Given the description of an element on the screen output the (x, y) to click on. 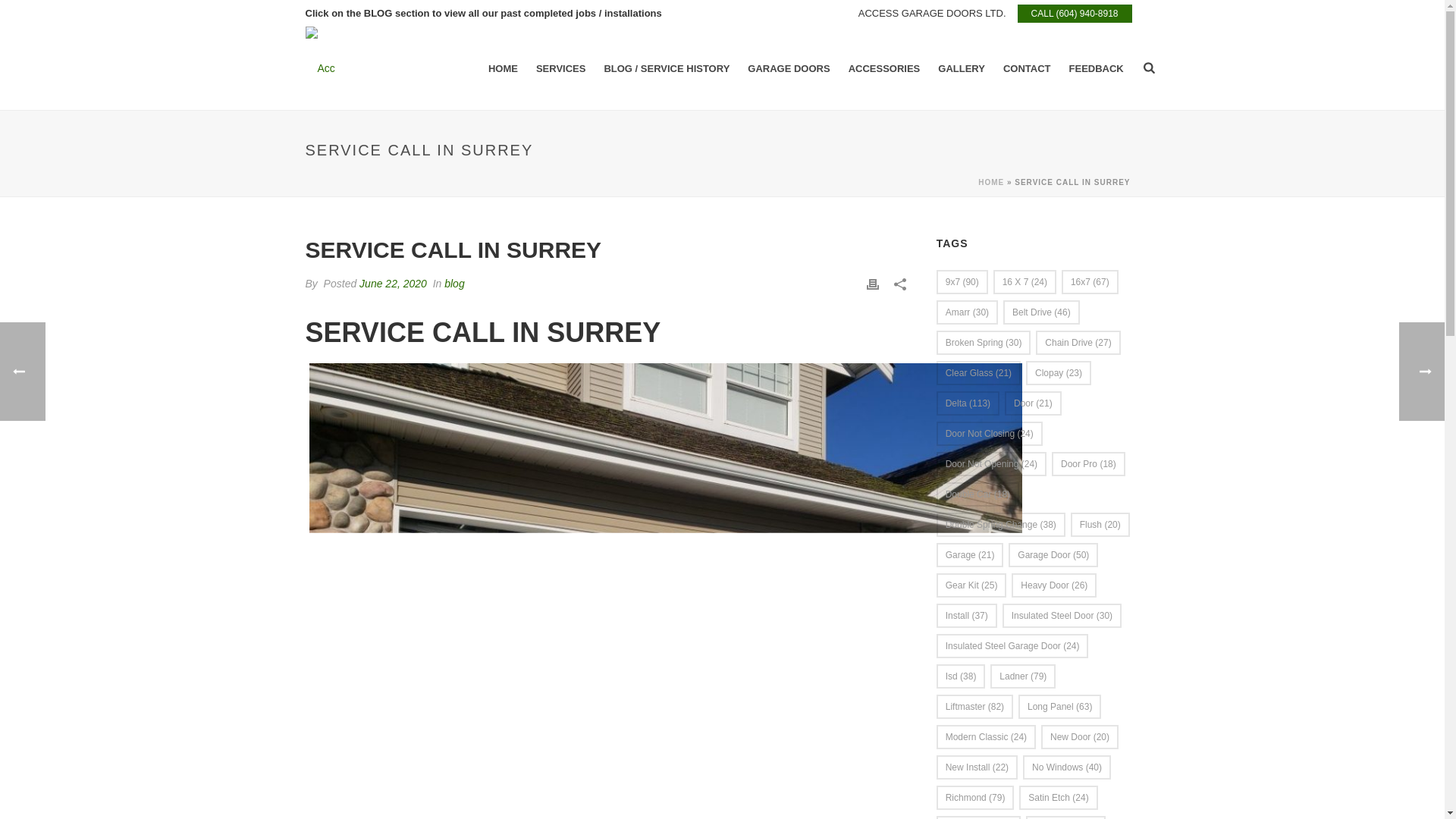
CONTACT (1026, 68)
GARAGE DOORS (788, 68)
GALLERY (961, 68)
ACCESSORIES (885, 68)
June 22, 2020 (392, 283)
SERVICES (561, 68)
GALLERY (961, 68)
CONTACT (1026, 68)
HOME (991, 182)
FEEDBACK (1095, 68)
SERVICES (561, 68)
ACCESS GARAGE DOORS LTD. (932, 12)
GARAGE DOORS (788, 68)
FEEDBACK (1095, 68)
HOME (503, 68)
